Given the description of an element on the screen output the (x, y) to click on. 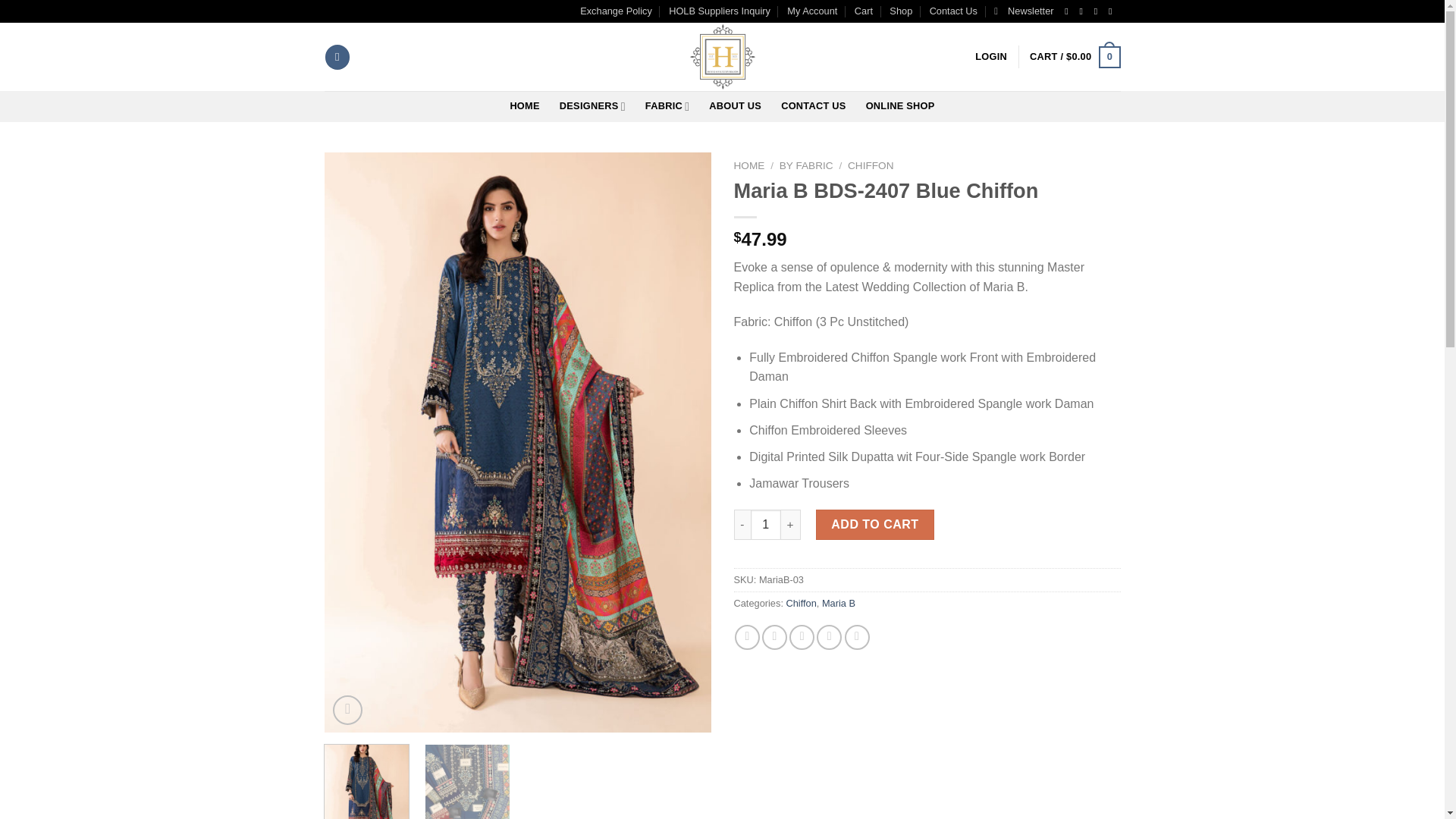
Contact Us (953, 11)
Zoom (347, 709)
DESIGNERS (592, 105)
Cart (1074, 57)
Share on Facebook (747, 637)
HOLB Suppliers Inquiry (719, 11)
Sign up for Newsletter (1023, 11)
Qty (765, 524)
My Account (812, 11)
Exchange Policy (615, 11)
Newsletter (1023, 11)
Shop (900, 11)
House of Luxury Brands - Online Store (721, 56)
Share on Twitter (774, 637)
1 (765, 524)
